Given the description of an element on the screen output the (x, y) to click on. 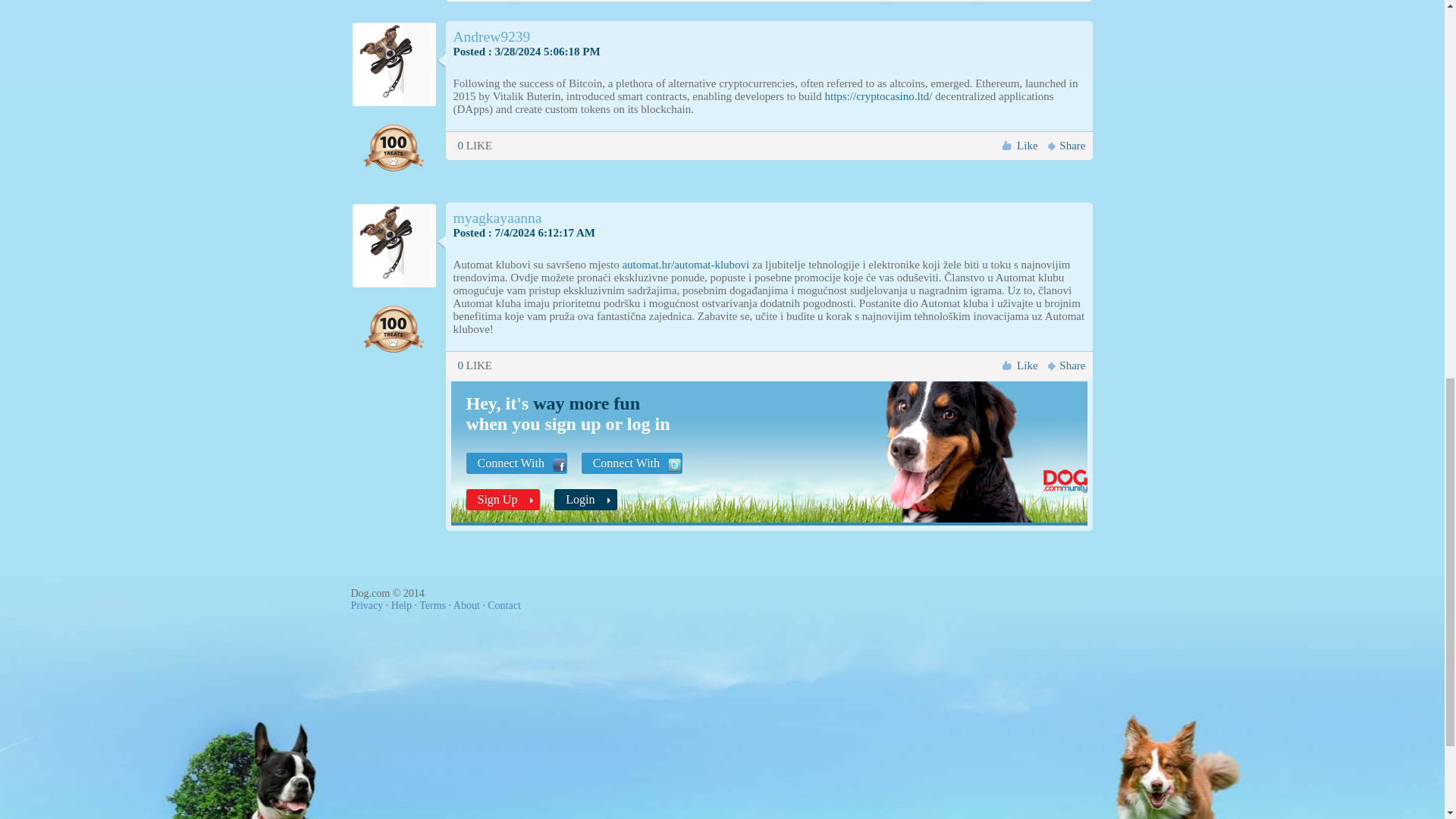
Terms and conditions of the site (432, 604)
Privacy Policy (366, 604)
About us (466, 604)
Contact us (504, 604)
Community help center (401, 604)
